Given the description of an element on the screen output the (x, y) to click on. 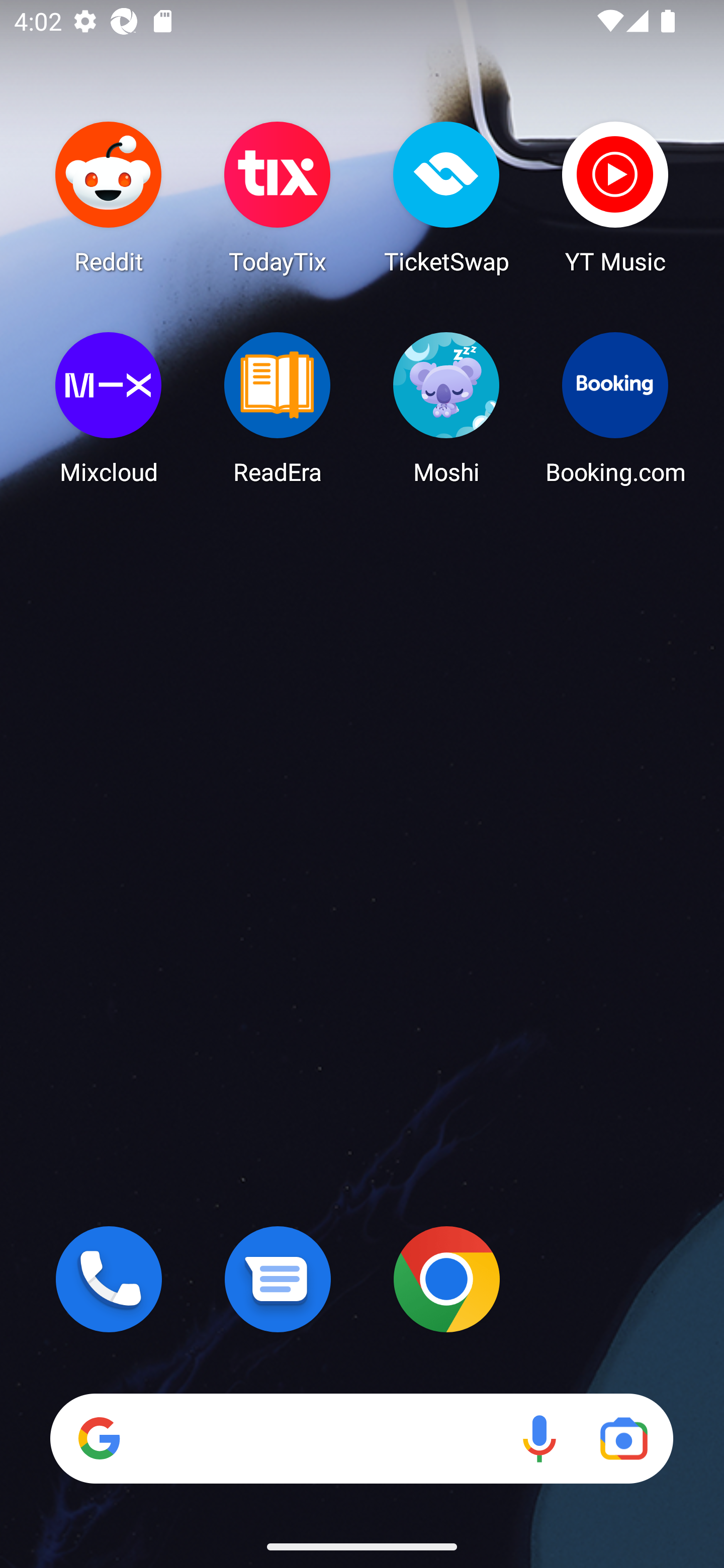
Reddit (108, 196)
TodayTix (277, 196)
TicketSwap (445, 196)
YT Music (615, 196)
Mixcloud (108, 407)
ReadEra (277, 407)
Moshi (445, 407)
Booking.com (615, 407)
Phone (108, 1279)
Messages (277, 1279)
Chrome (446, 1279)
Search Voice search Google Lens (361, 1438)
Voice search (539, 1438)
Google Lens (623, 1438)
